Given the description of an element on the screen output the (x, y) to click on. 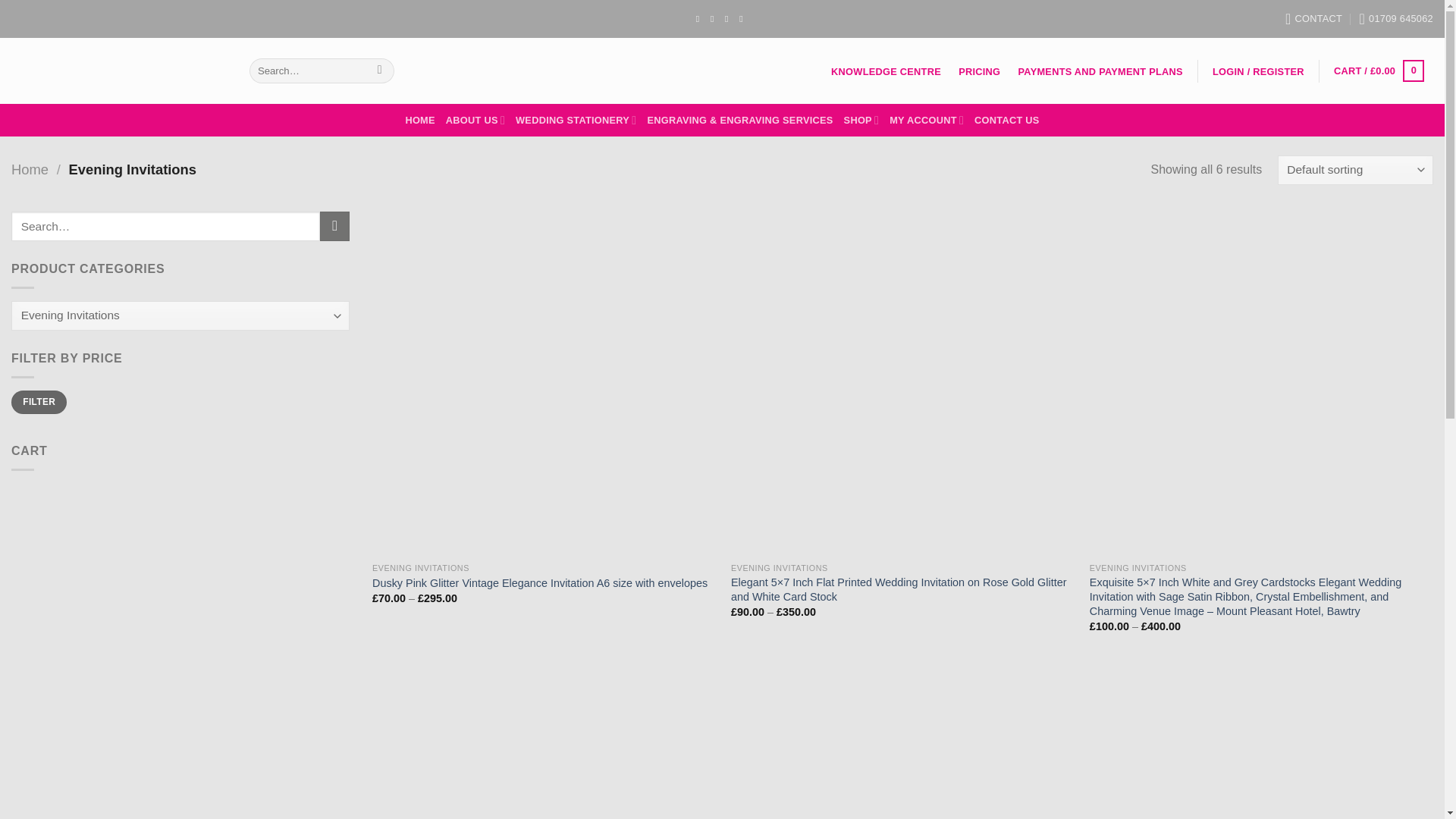
HOME (418, 119)
Login (1258, 71)
01709 645062 (1395, 18)
CONTACT (1313, 18)
SHOP (861, 120)
Search (378, 71)
01709 645062 (1395, 18)
ABOUT US (475, 120)
PRICING (979, 71)
Cart (1378, 71)
